Given the description of an element on the screen output the (x, y) to click on. 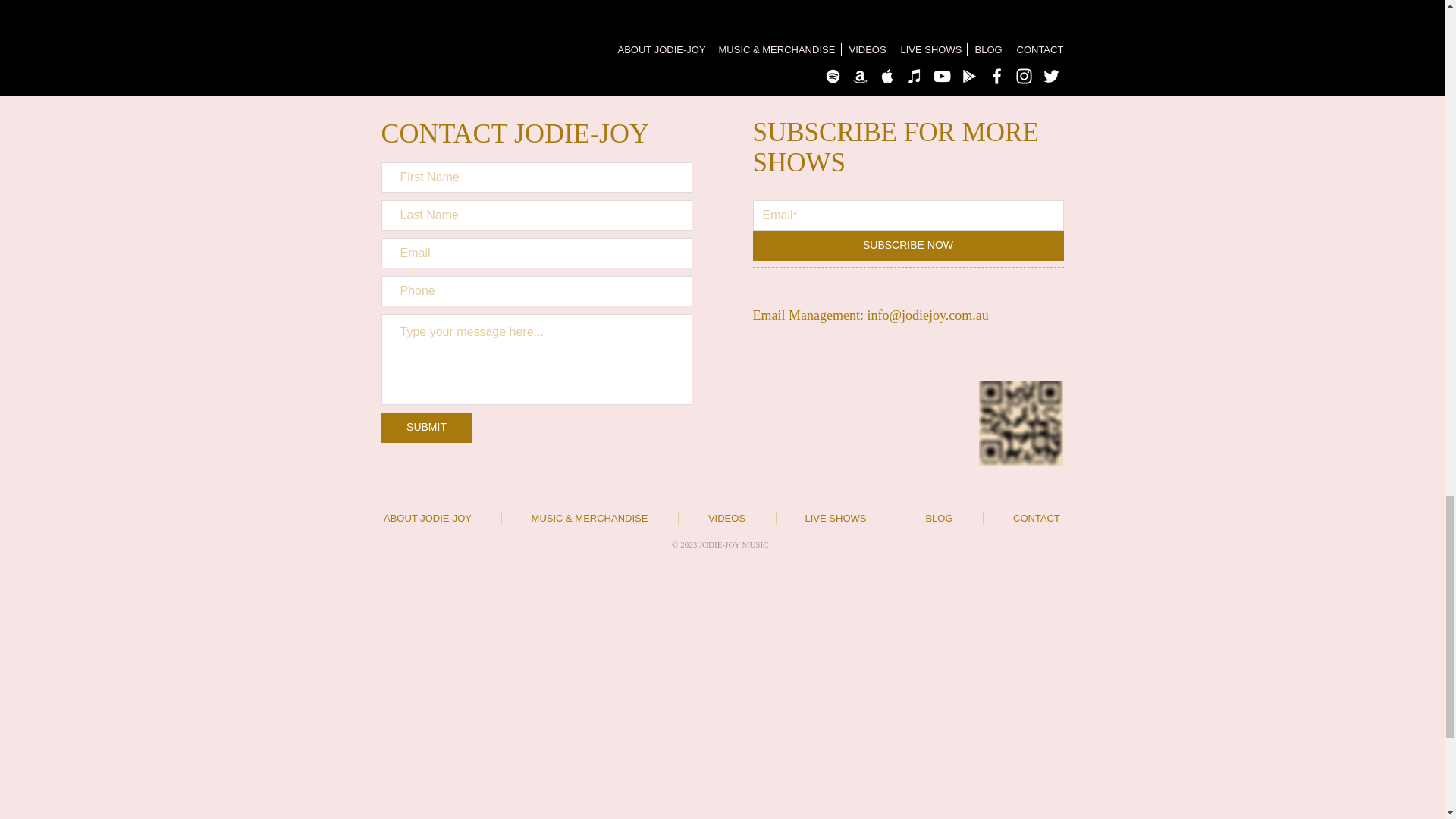
SUBMIT (425, 427)
SUBSCRIBE NOW (907, 245)
CONTACT (1035, 517)
LIVE SHOWS (835, 517)
ABOUT JODIE-JOY (427, 517)
VIDEOS (726, 517)
BLOG (939, 517)
